Given the description of an element on the screen output the (x, y) to click on. 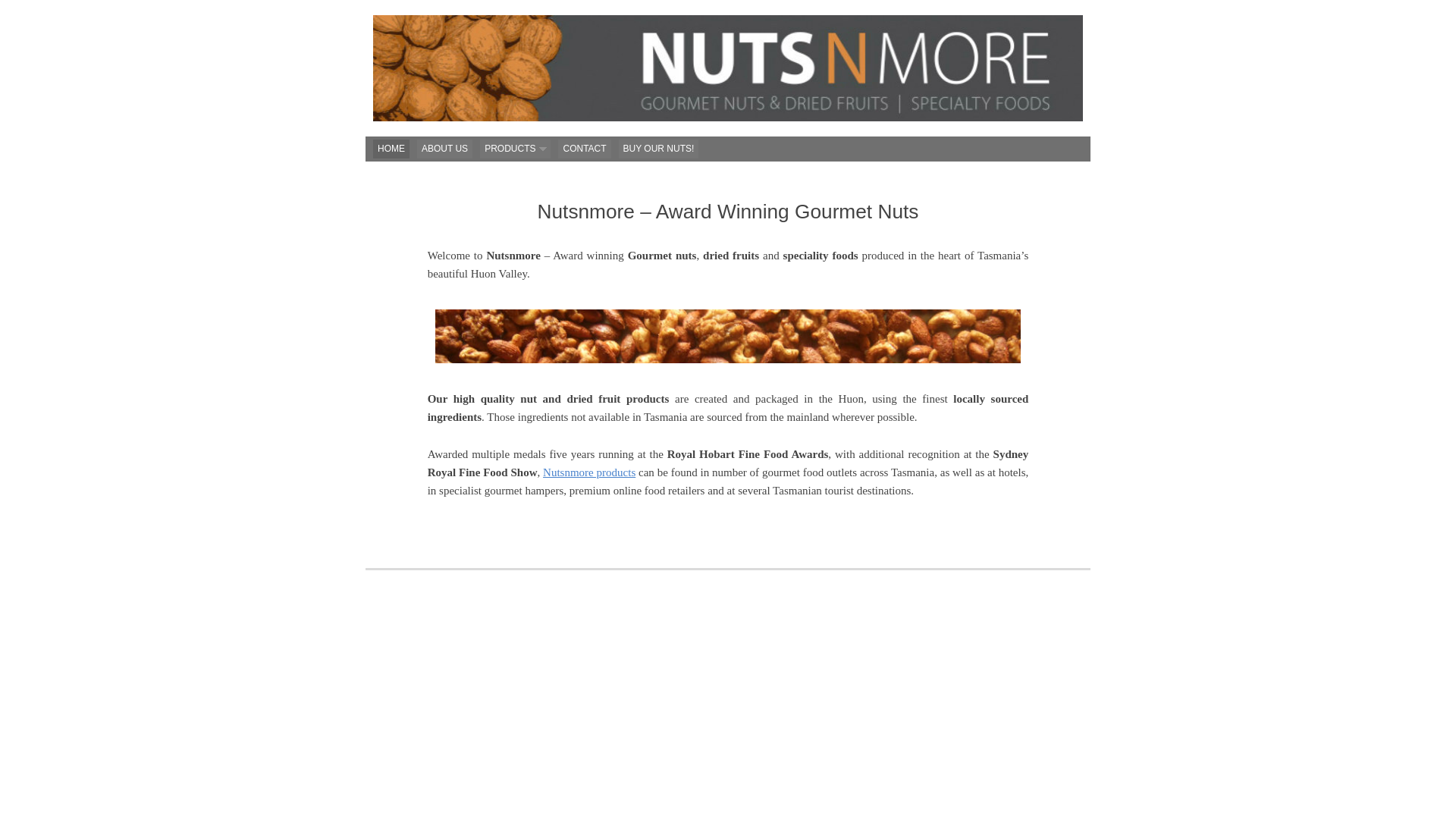
BUY OUR NUTS! Element type: text (658, 149)
HOME Element type: text (391, 149)
PRODUCTS Element type: text (515, 149)
Nutsnmore products Element type: text (588, 472)
CONTACT Element type: text (584, 149)
ABOUT US Element type: text (444, 149)
Gourmet Nuts Tasmania Element type: hover (727, 68)
